Given the description of an element on the screen output the (x, y) to click on. 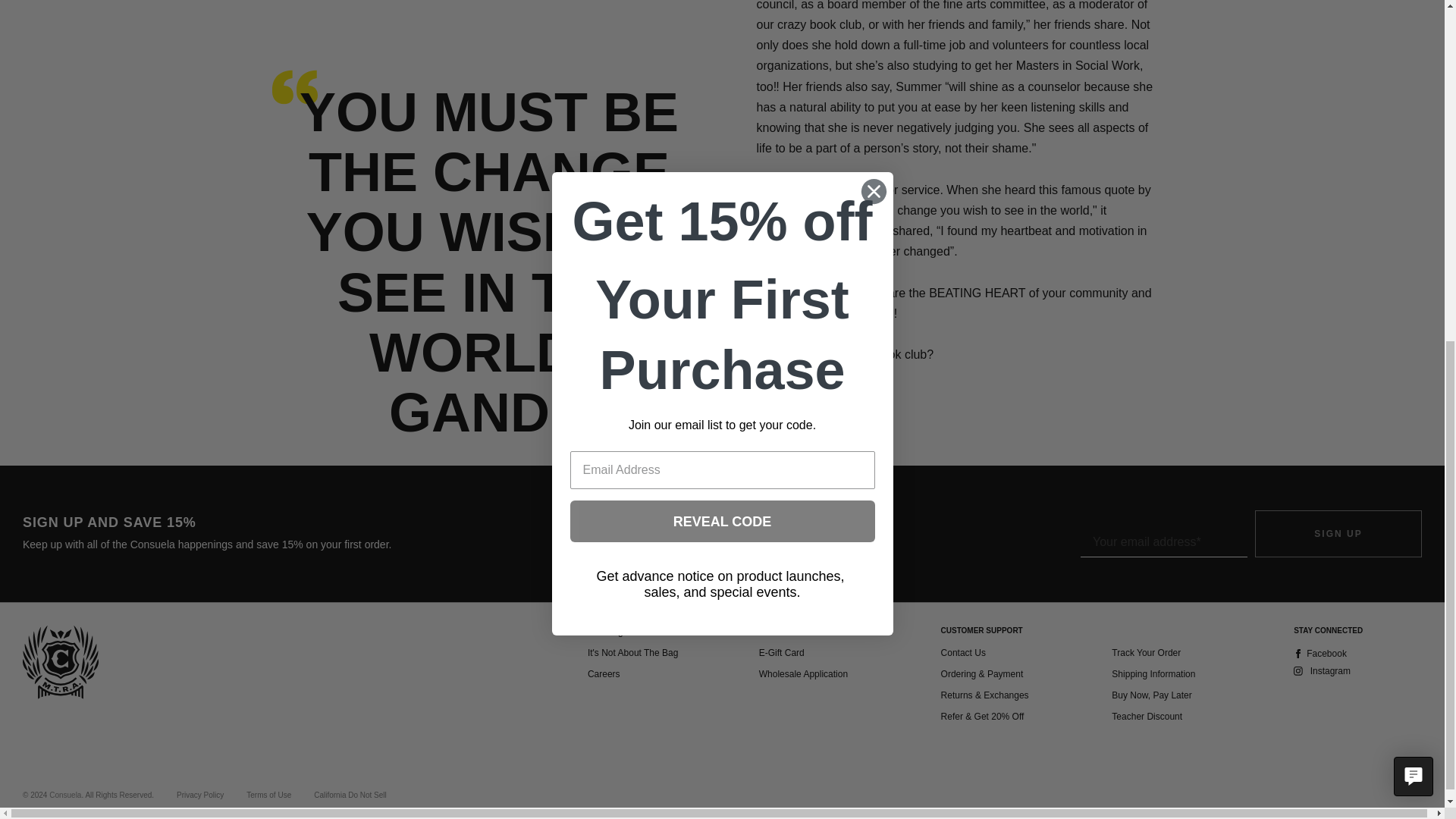
Link to Instagram (1358, 674)
Link to Facebook (1358, 656)
